Given the description of an element on the screen output the (x, y) to click on. 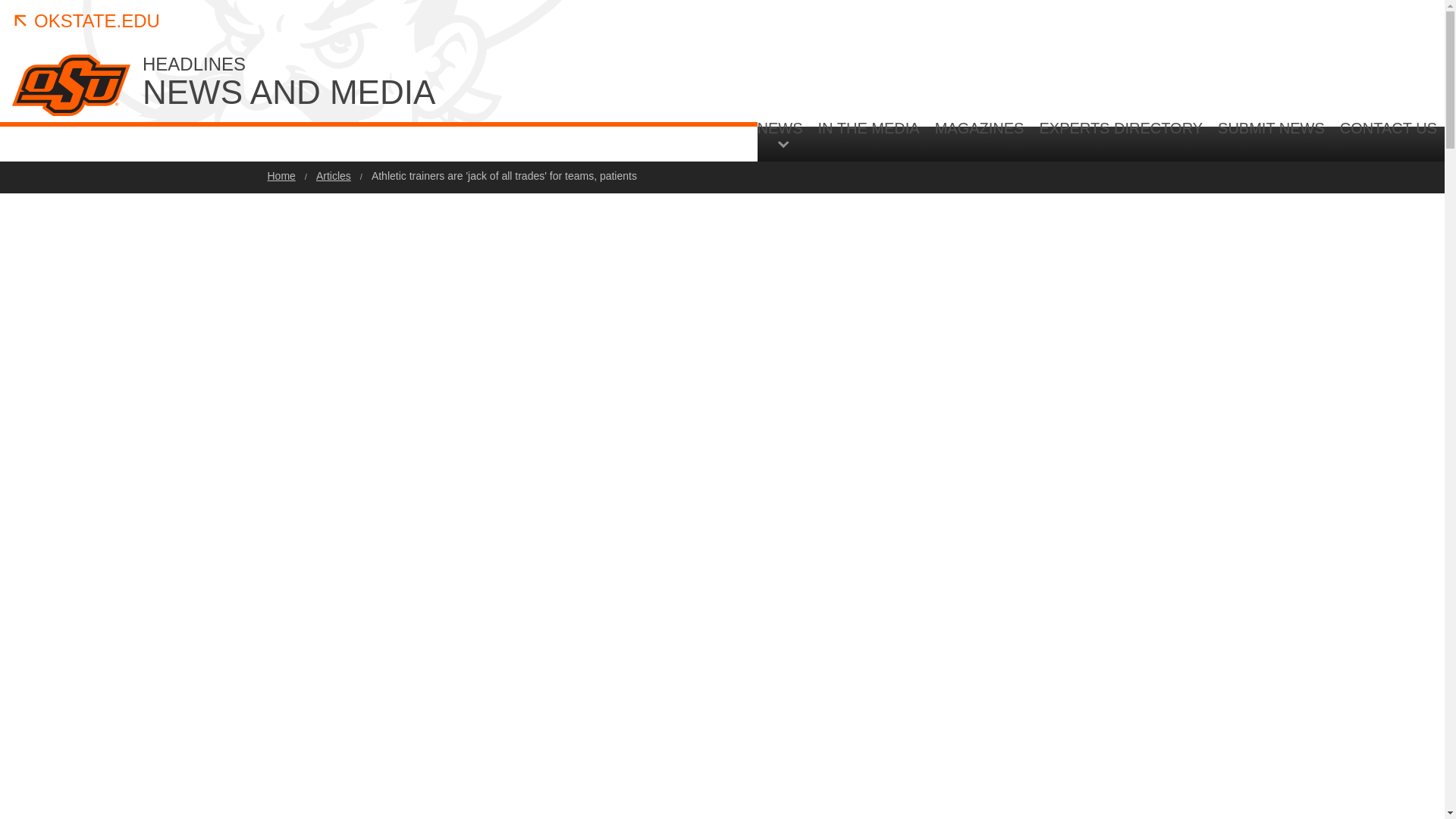
SUBMIT NEWS (1270, 139)
Search (1344, 267)
OKSTATE.EDU (85, 21)
Articles (332, 175)
NEWS (783, 133)
EXPERTS DIRECTORY (1119, 139)
IN THE MEDIA (868, 139)
MAGAZINES (426, 82)
Home (979, 139)
